Given the description of an element on the screen output the (x, y) to click on. 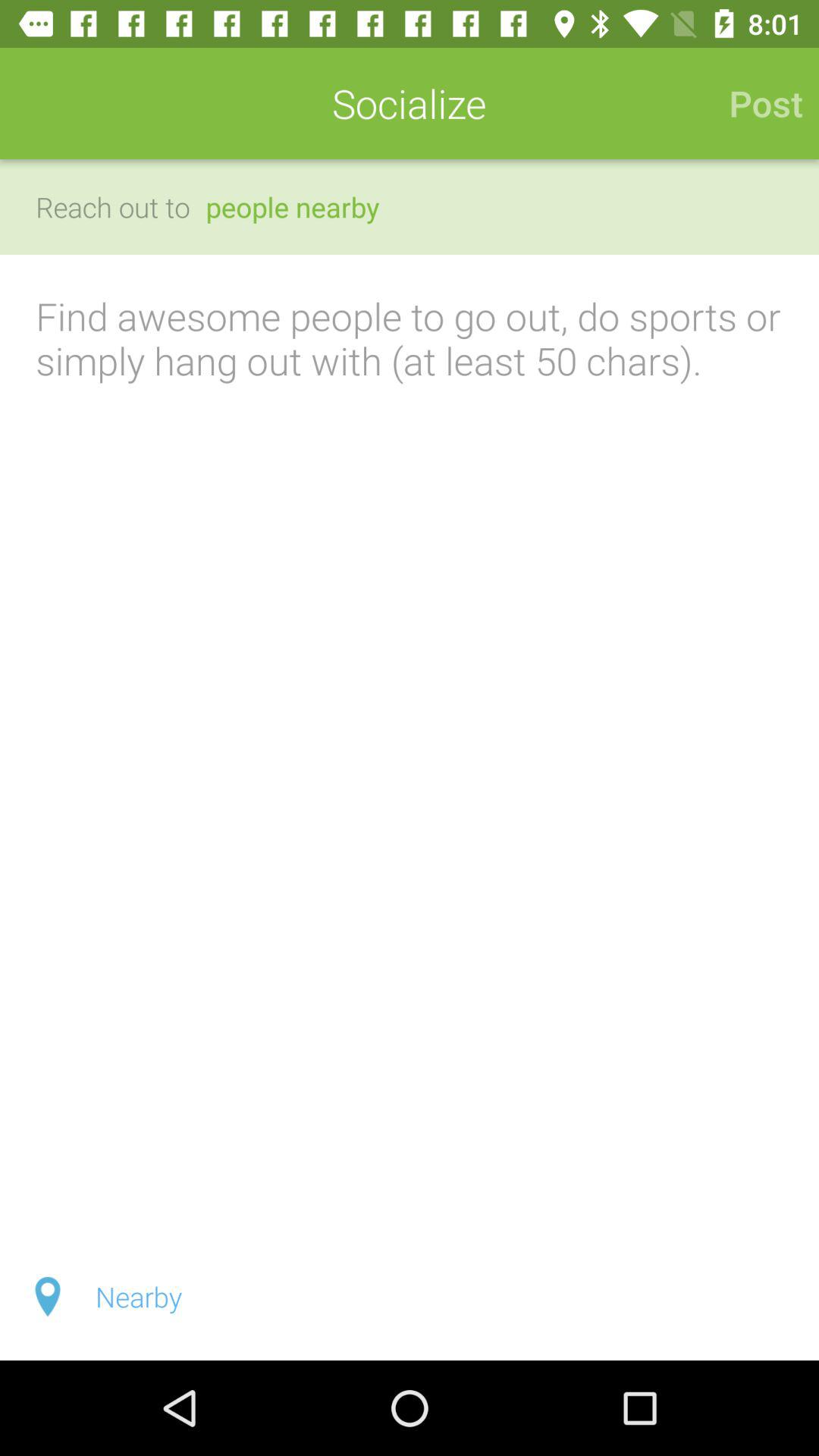
go to nearby option (409, 1296)
